Given the description of an element on the screen output the (x, y) to click on. 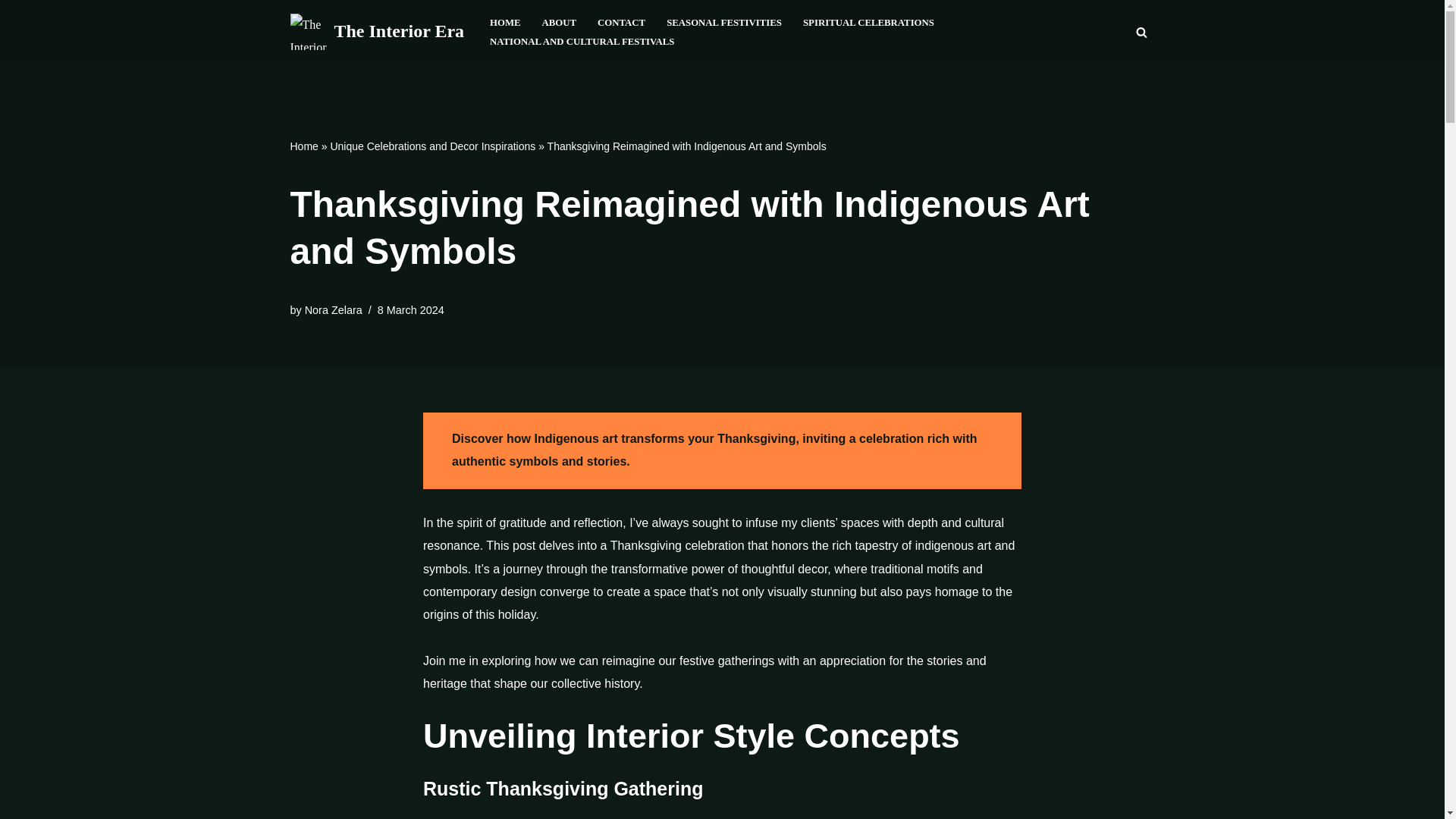
Unique Celebrations and Decor Inspirations (432, 146)
ABOUT (558, 22)
The Interior Era (376, 31)
Posts by Nora Zelara (333, 309)
SPIRITUAL CELEBRATIONS (868, 22)
CONTACT (620, 22)
Nora Zelara (333, 309)
SEASONAL FESTIVITIES (723, 22)
NATIONAL AND CULTURAL FESTIVALS (581, 40)
Home (303, 146)
HOME (505, 22)
Skip to content (11, 31)
